Given the description of an element on the screen output the (x, y) to click on. 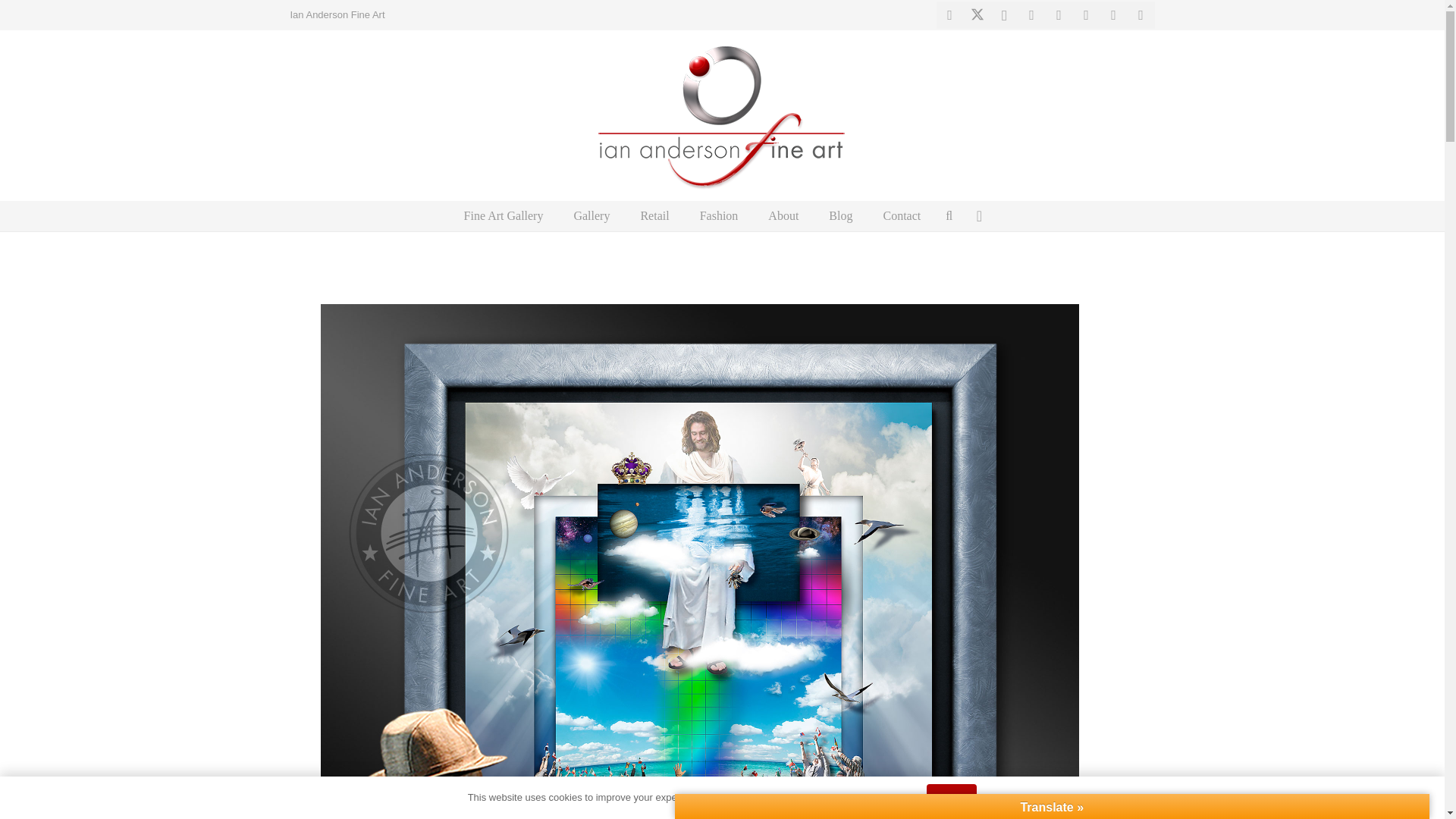
Contact (901, 216)
Title (1140, 14)
LinkedIn (995, 670)
Google (1109, 632)
LinkedIn (1059, 14)
Gallery (590, 216)
Fashion (719, 216)
Twitter (1071, 632)
Google (1086, 14)
Facebook (949, 14)
